Given the description of an element on the screen output the (x, y) to click on. 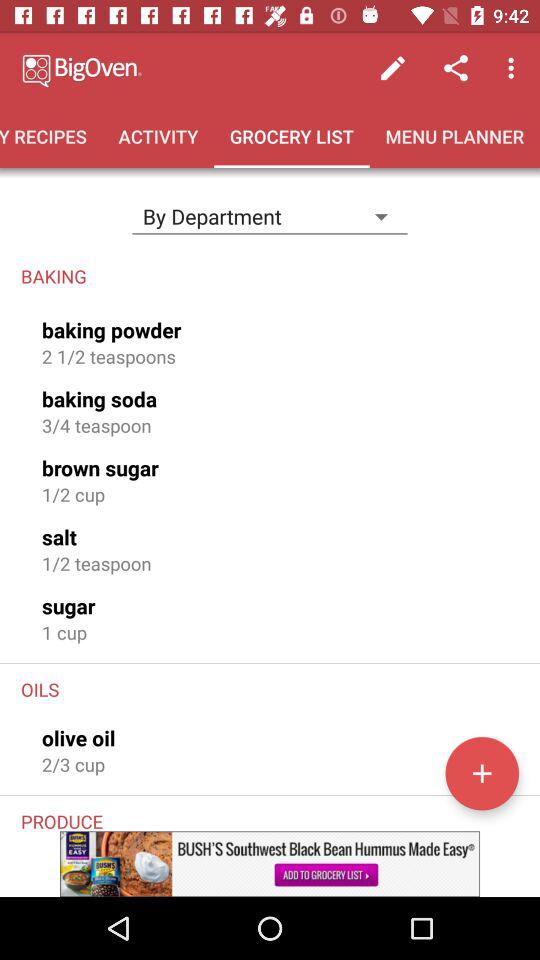
click button (482, 773)
